Given the description of an element on the screen output the (x, y) to click on. 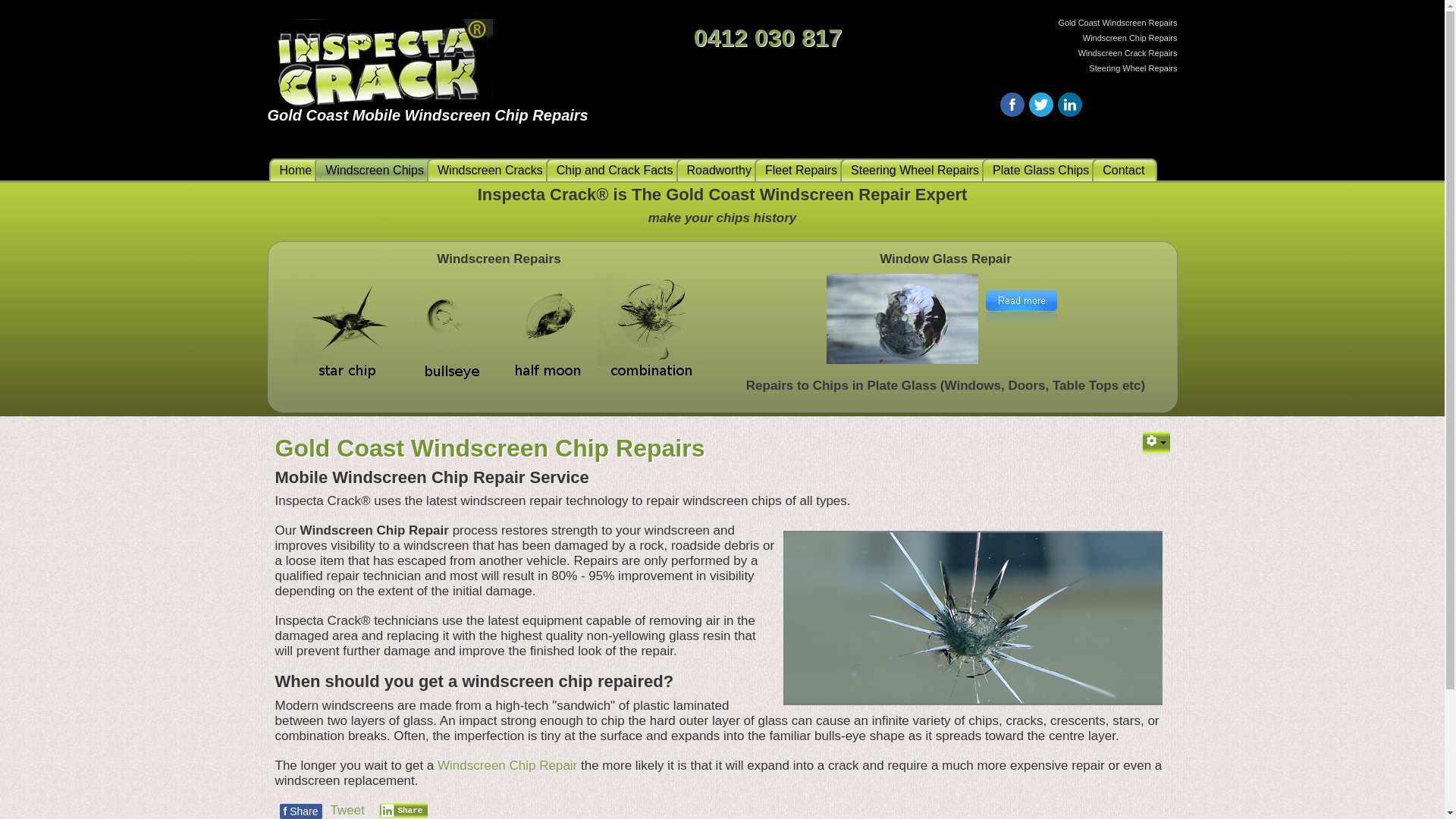
Fleet Repairs Element type: text (802, 170)
Window Glass Repair Element type: hover (1021, 317)
Tweet Element type: text (347, 810)
Windscreen Cracks Element type: text (490, 170)
Windscreen Chip Repair Element type: text (507, 765)
Share on LinkedIn Element type: hover (1069, 104)
Share Element type: text (403, 810)
Share on Twitter Element type: hover (1040, 104)
Plate Glass Chip Repair Element type: hover (902, 318)
Steering Wheel Repairs Element type: text (915, 170)
Share on Facebook Element type: hover (1011, 104)
Home Element type: text (296, 170)
Contact Element type: text (1124, 170)
Window Glass Chip Repair Element type: hover (1021, 311)
Windscreen Chips Element type: text (375, 170)
Plate Glass Chips Element type: text (1041, 170)
Gold Coast Windscreen Repairs Element type: hover (500, 329)
Roadworthy Element type: text (720, 170)
Chip and Crack Facts Element type: text (616, 170)
0412 030 817 Element type: text (767, 37)
